Given the description of an element on the screen output the (x, y) to click on. 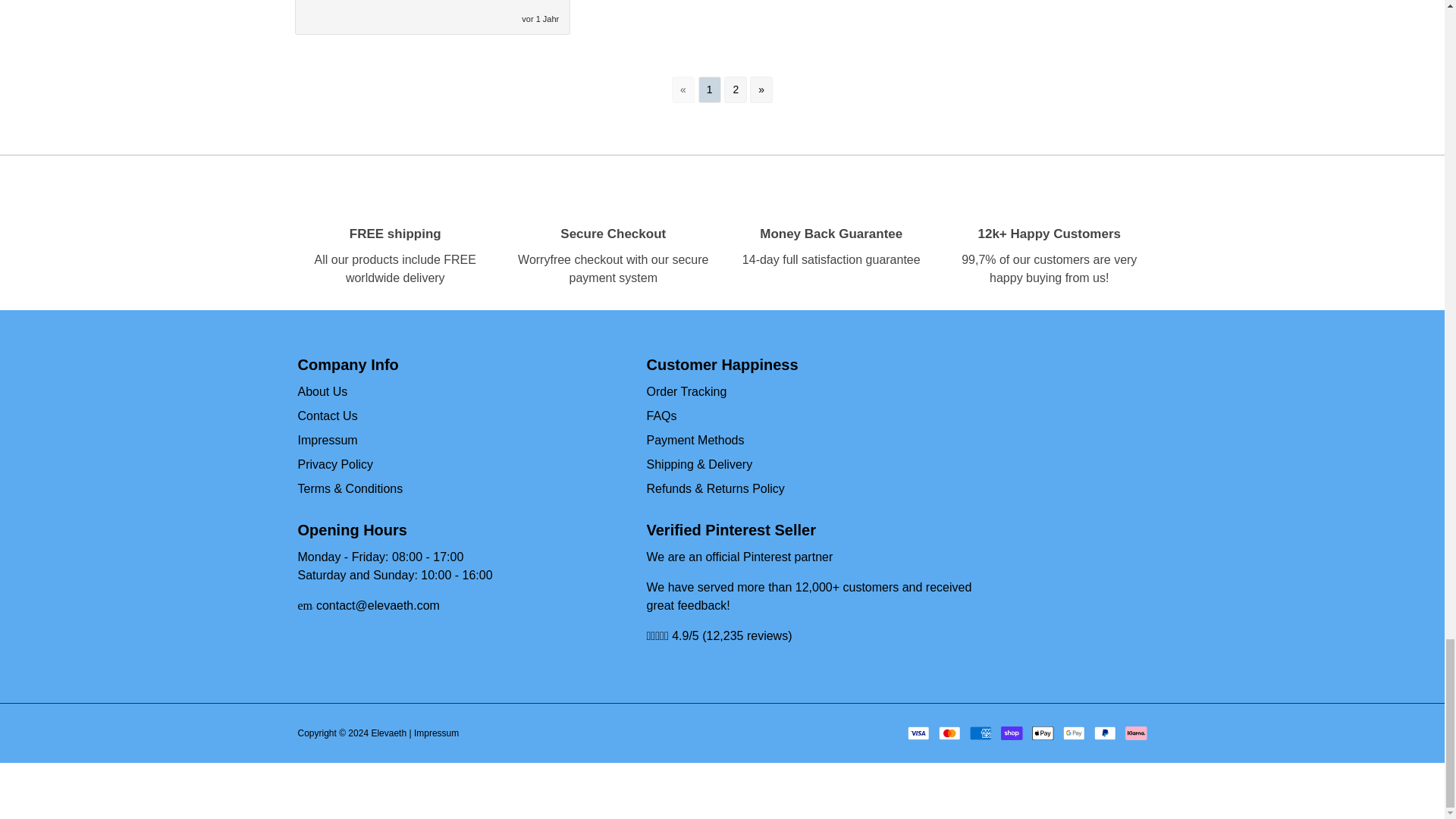
Mastercard (949, 733)
Apple Pay (1043, 733)
Shop Pay (1011, 733)
American Express (980, 733)
Klarna (1136, 733)
Visa (917, 733)
Google Pay (1073, 733)
PayPal (1104, 733)
